Given the description of an element on the screen output the (x, y) to click on. 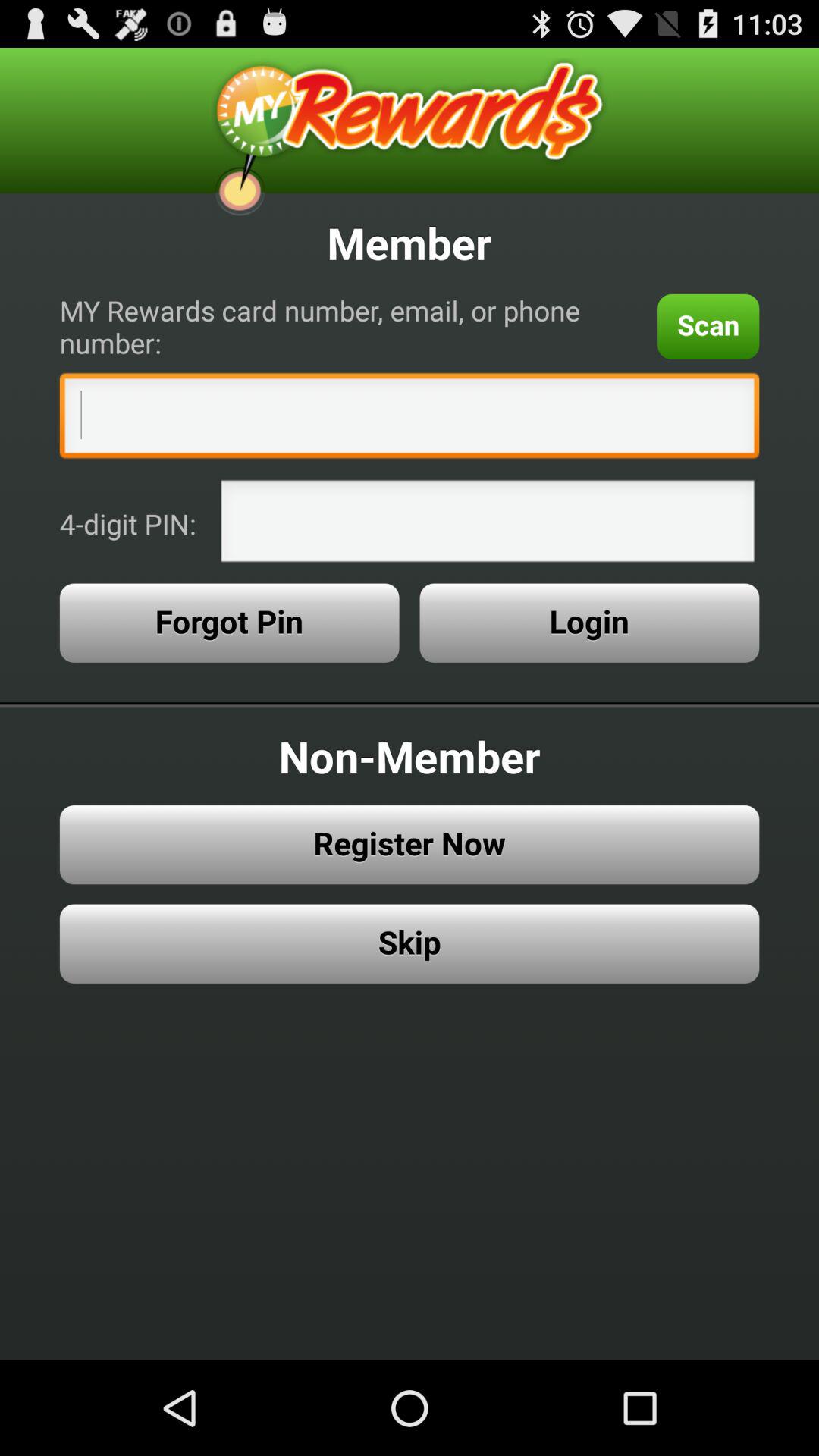
turn on the icon next to the forgot pin (589, 622)
